Given the description of an element on the screen output the (x, y) to click on. 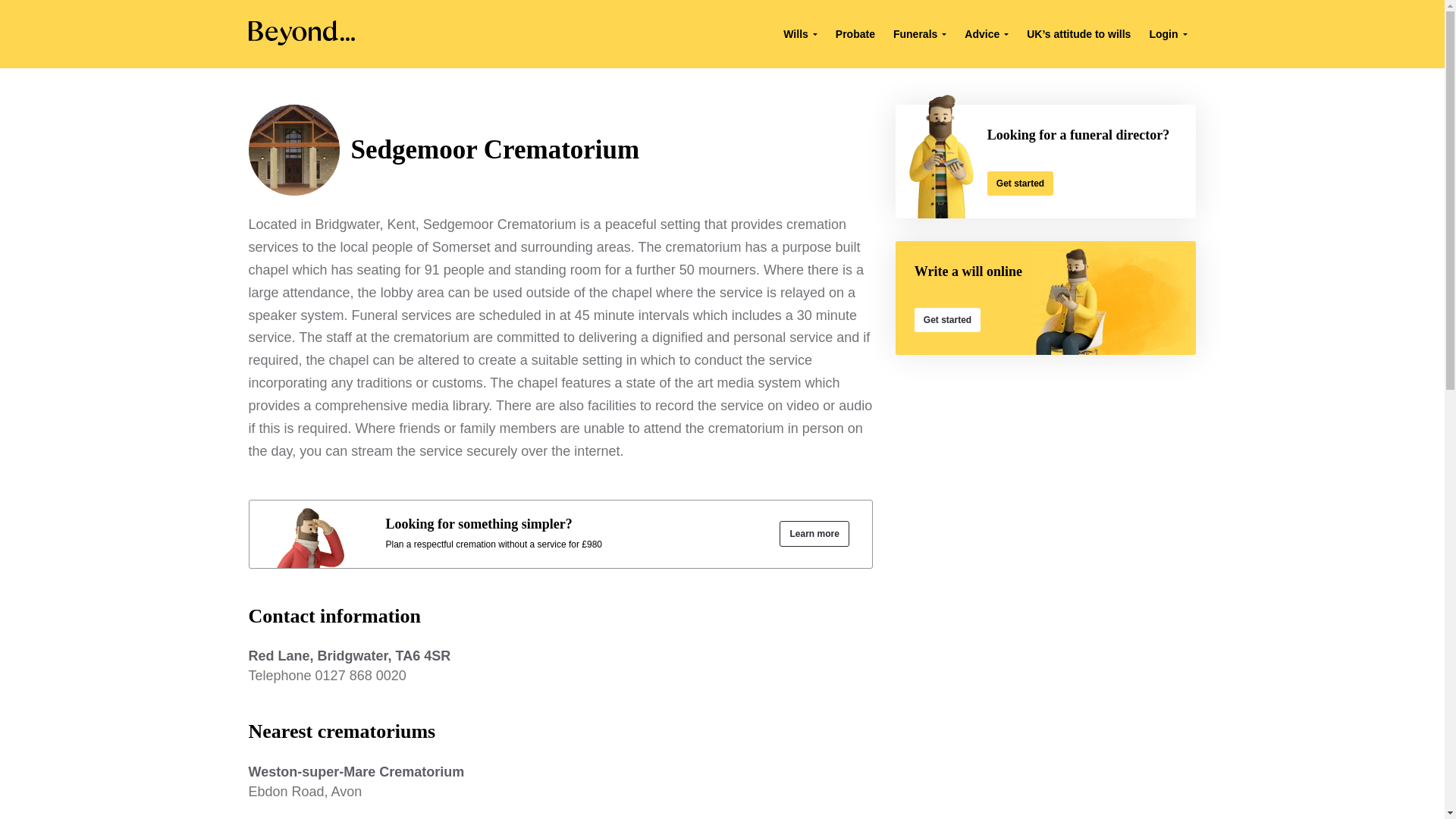
Get started (560, 782)
Beyond (1019, 183)
Get started (301, 41)
Probate (946, 319)
0127 868 0020 (855, 33)
Learn more (360, 675)
